Given the description of an element on the screen output the (x, y) to click on. 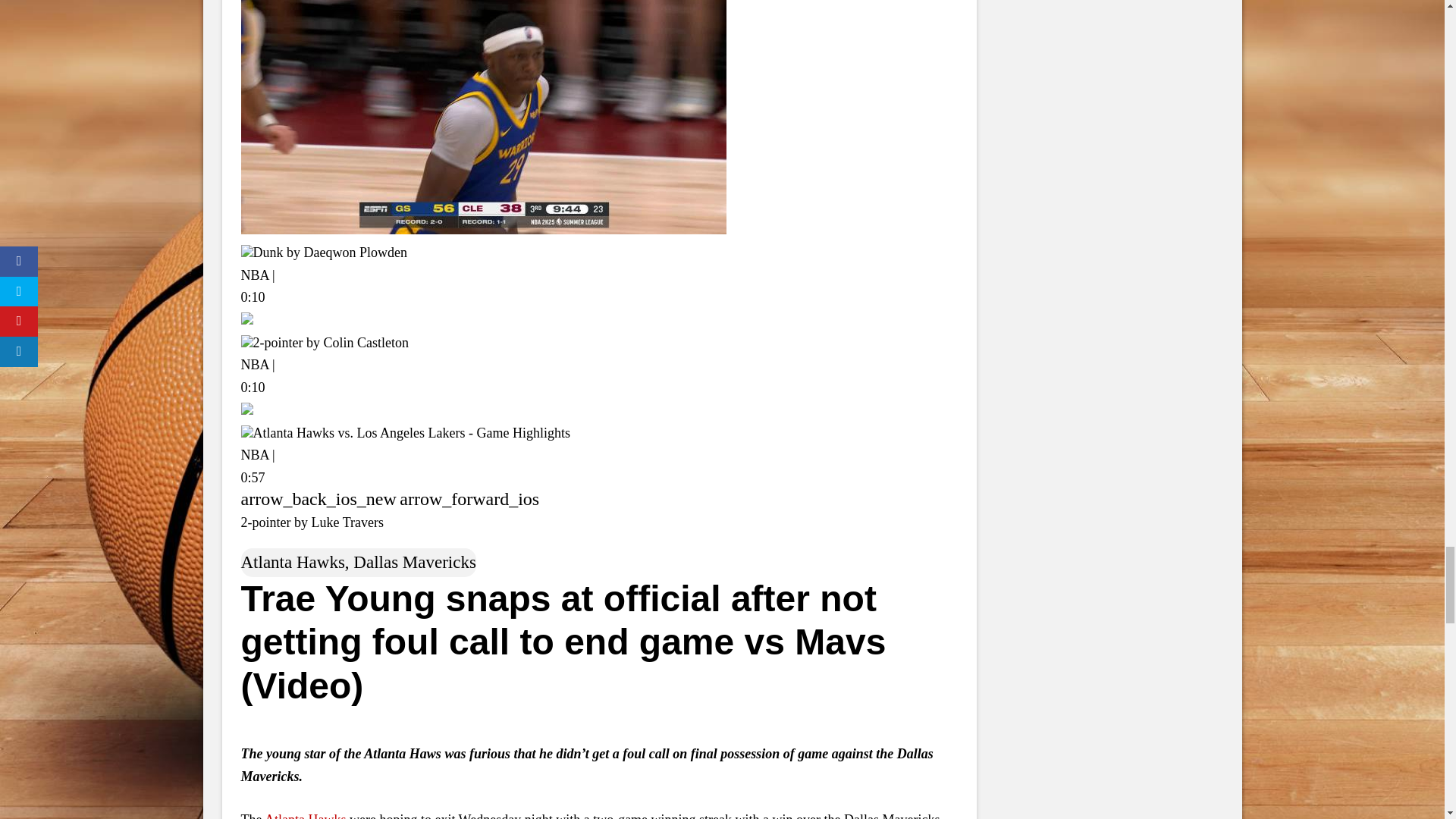
Dallas Mavericks (414, 561)
Atlanta Hawks (293, 561)
